Given the description of an element on the screen output the (x, y) to click on. 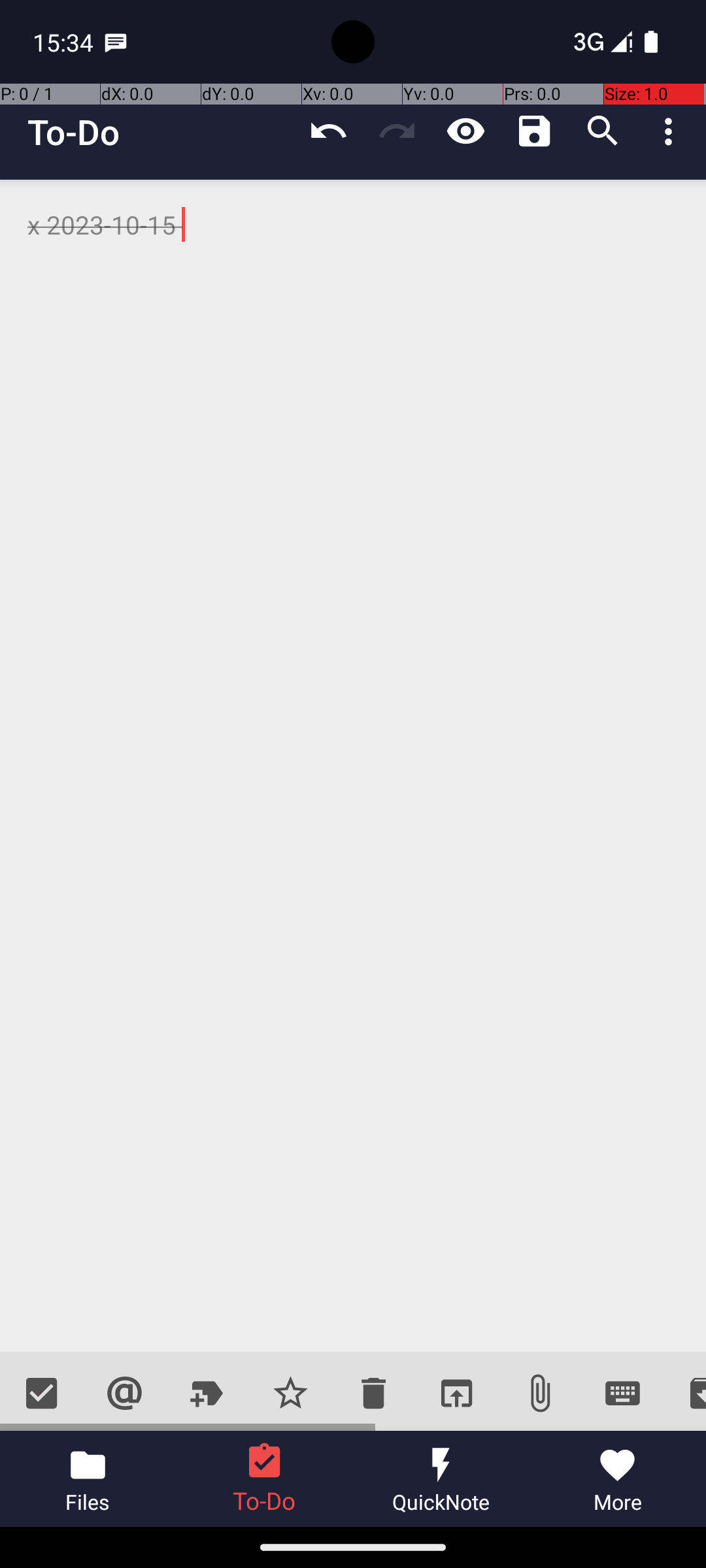
x 2023-10-15  Element type: android.widget.EditText (353, 765)
Toggle done Element type: android.widget.ImageView (41, 1392)
Add context Element type: android.widget.ImageView (124, 1392)
Add project Element type: android.widget.ImageView (207, 1392)
Priority Element type: android.widget.ImageView (290, 1392)
Archive completed tasks Element type: android.widget.ImageView (685, 1392)
